Given the description of an element on the screen output the (x, y) to click on. 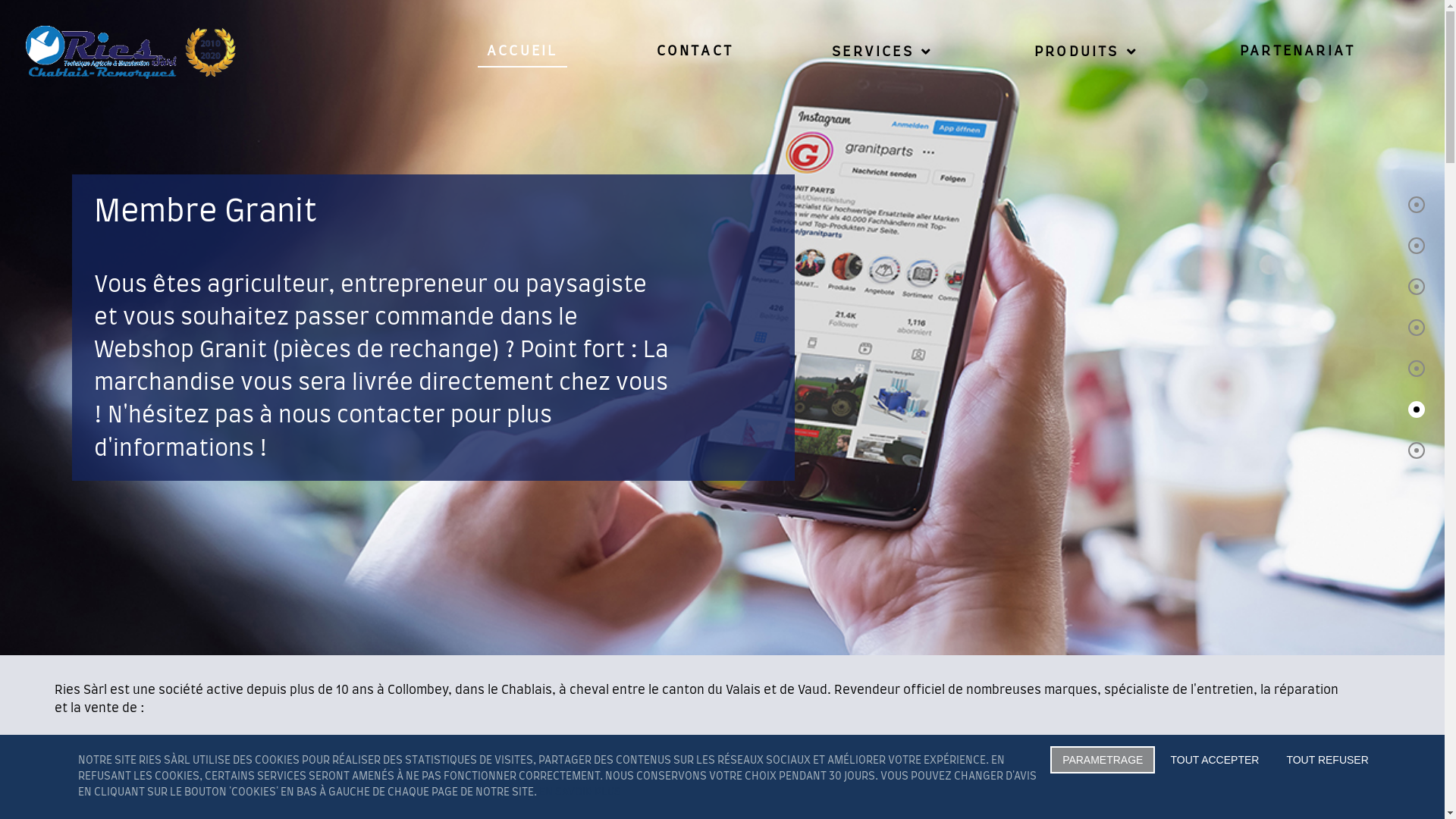
ACCUEIL Element type: text (522, 52)
EN SAVOIR PLUS Element type: text (580, 792)
TOUT REFUSER Element type: text (1327, 759)
PARTENARIAT Element type: text (1297, 51)
Membre Granit Element type: text (205, 212)
clarity Element type: hover (180, 51)
PRODUITS Element type: text (1087, 52)
machines agricoles Element type: text (112, 742)
machines de manutention Element type: text (132, 778)
machines communales Element type: text (122, 760)
SERVICES Element type: text (883, 52)
CONTACT Element type: text (694, 51)
TOUT ACCEPTER Element type: text (1213, 759)
PARAMETRAGE Element type: text (1102, 759)
